Given the description of an element on the screen output the (x, y) to click on. 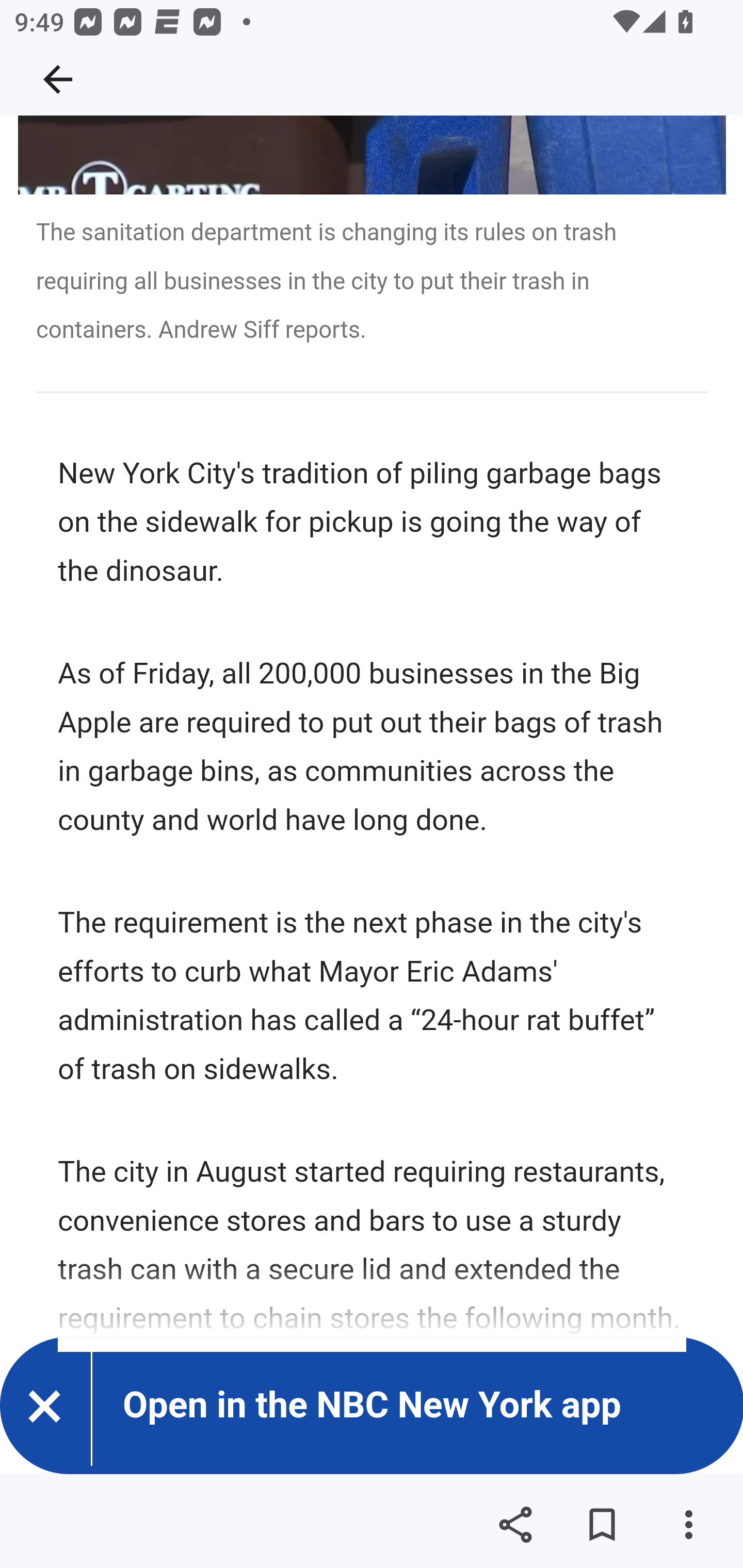
Navigate up (57, 79)
App Download or Open Button (336, 1404)
Share (514, 1524)
Save for later (601, 1524)
More options (688, 1524)
